Given the description of an element on the screen output the (x, y) to click on. 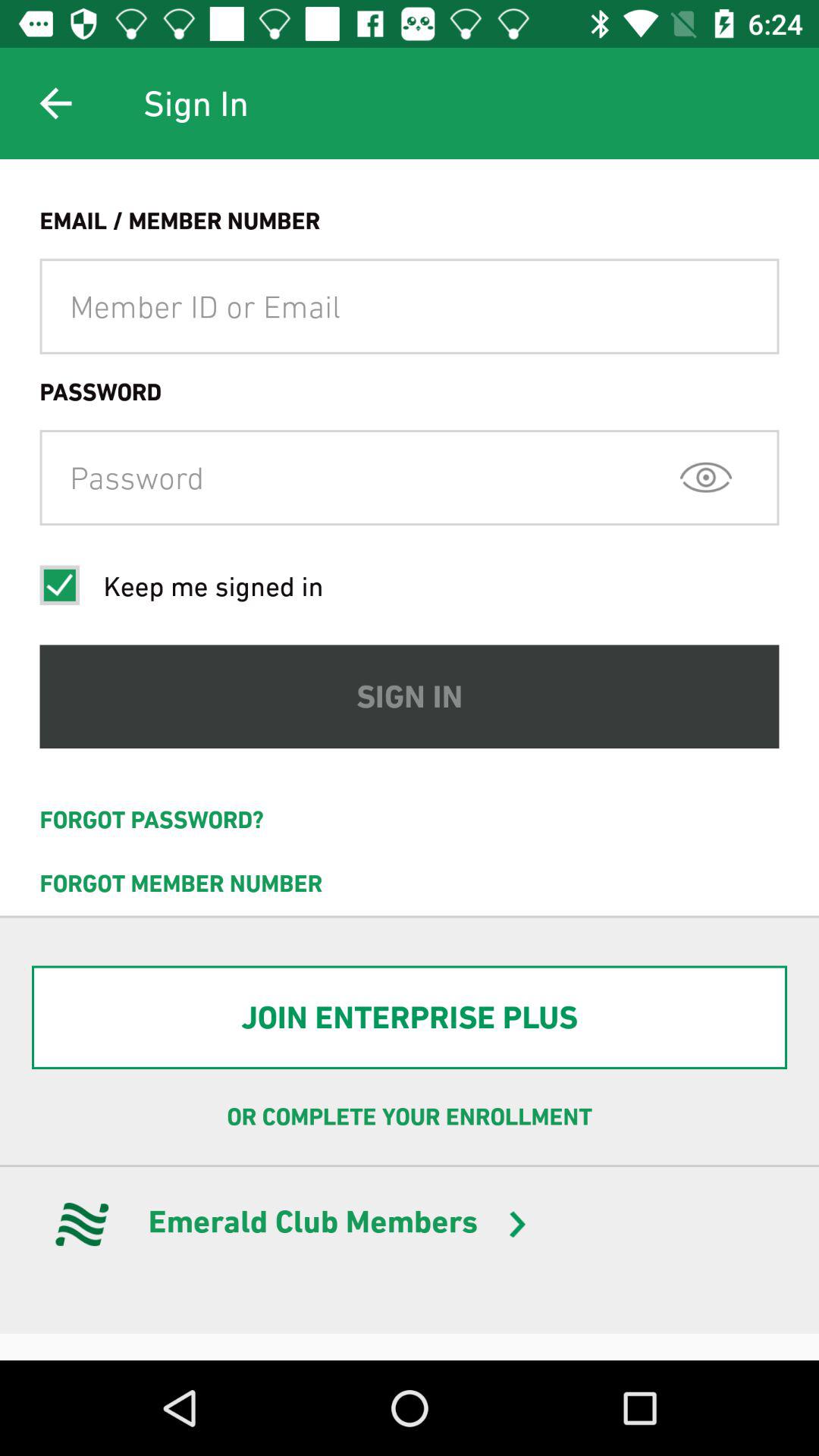
insert password (409, 477)
